Given the description of an element on the screen output the (x, y) to click on. 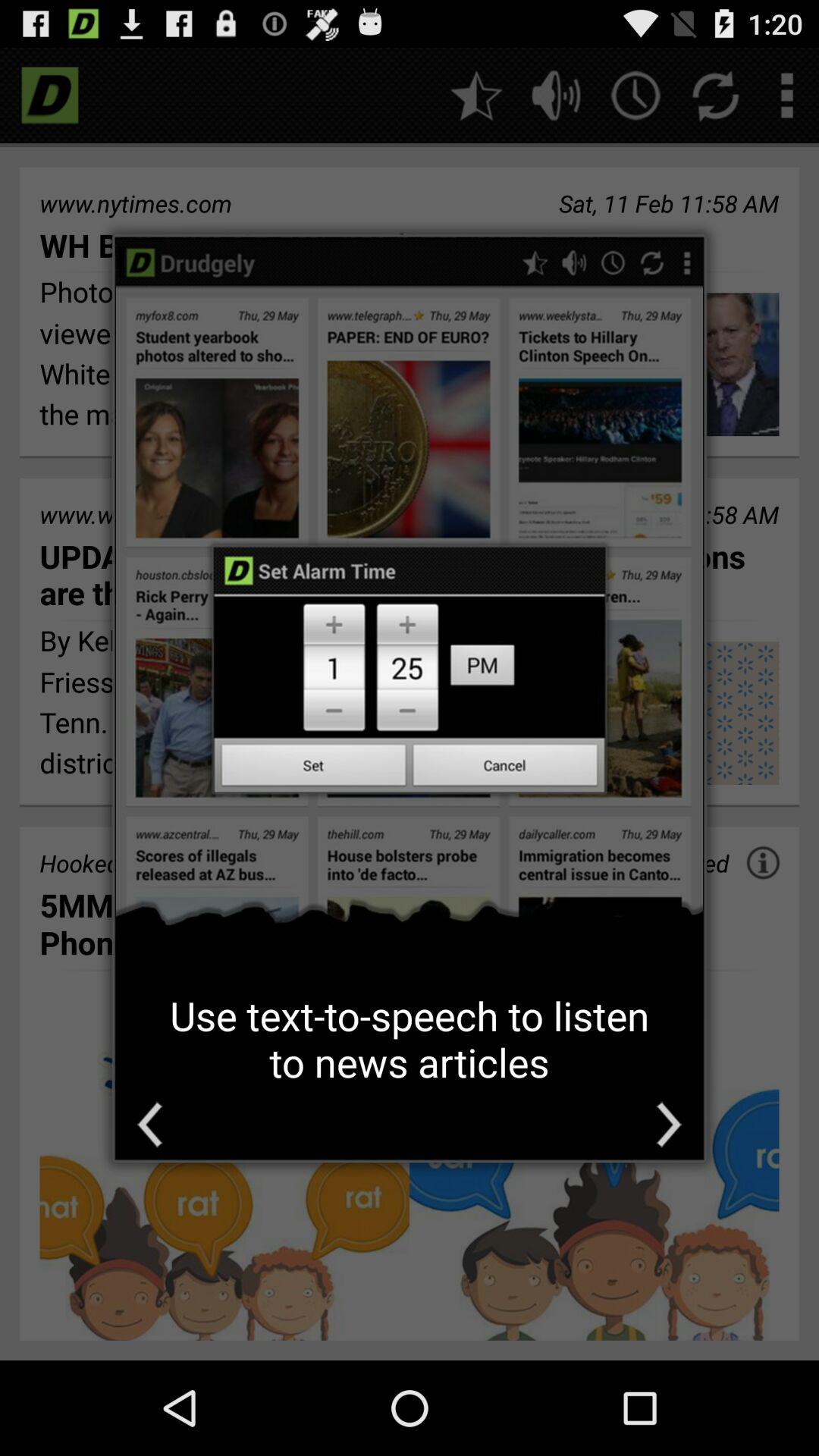
go to previous (149, 1124)
